Given the description of an element on the screen output the (x, y) to click on. 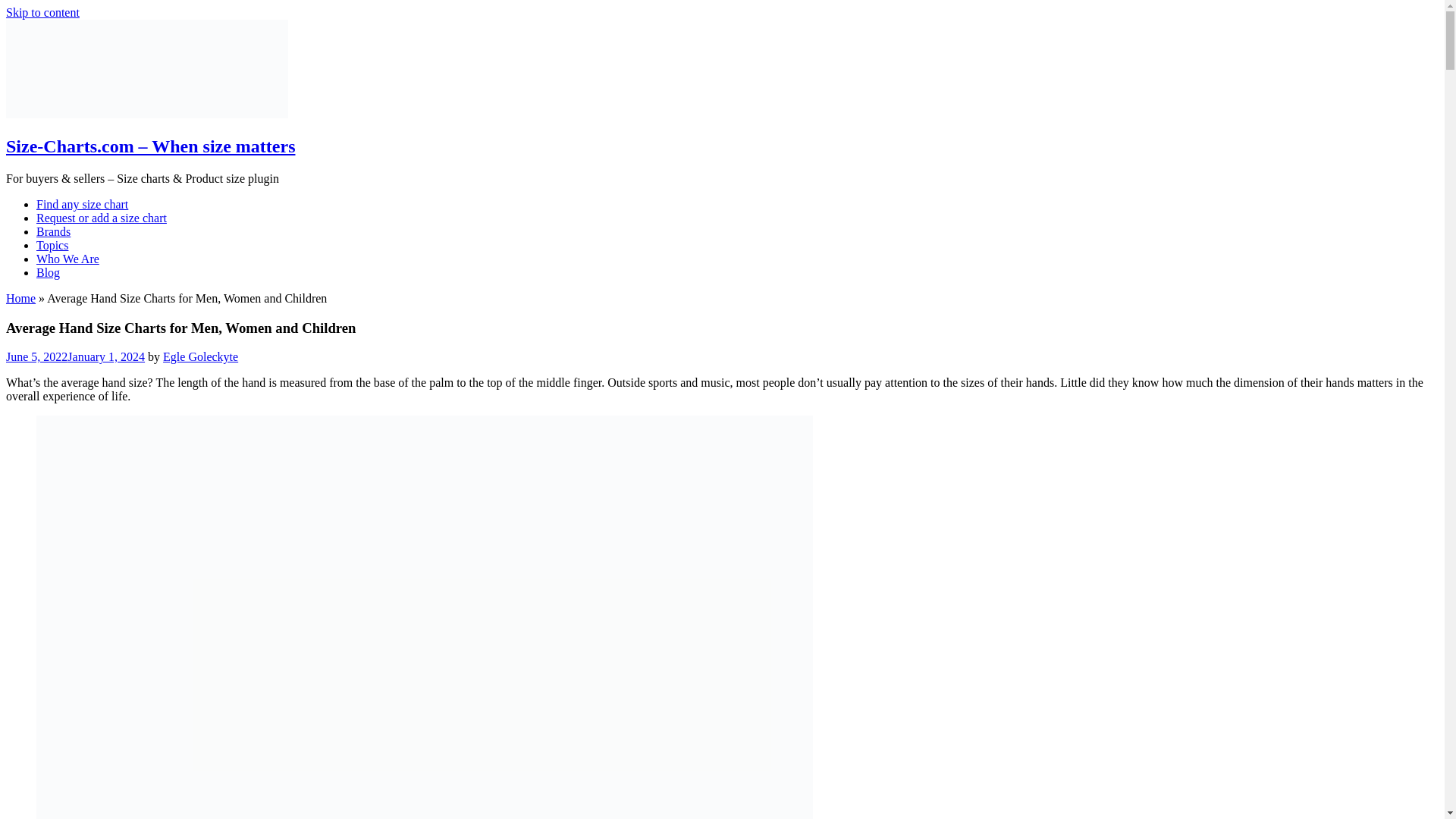
Home (19, 297)
Brands (52, 231)
Find any size chart (82, 204)
Request or add a size chart (101, 217)
Topics (52, 245)
Skip to content (42, 11)
Egle Goleckyte (200, 356)
Blog (47, 272)
Who We Are (67, 258)
June 5, 2022January 1, 2024 (74, 356)
